Given the description of an element on the screen output the (x, y) to click on. 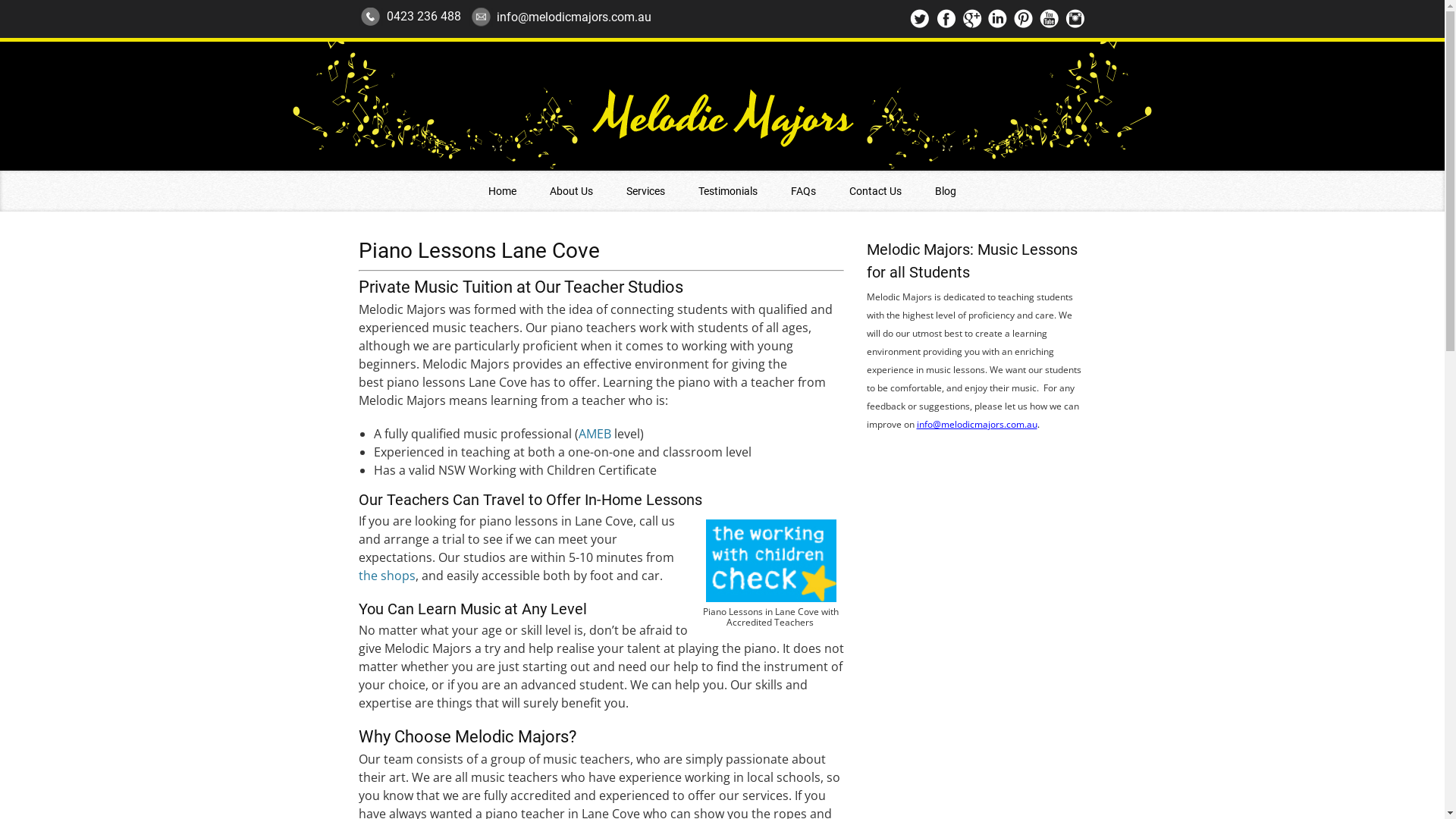
Contact Us Element type: text (875, 190)
AMEB Element type: text (593, 433)
Home Element type: text (502, 190)
the shops Element type: text (385, 575)
Services Element type: text (645, 190)
Blog Element type: text (945, 190)
FAQs Element type: text (803, 190)
About Us Element type: text (570, 190)
Melodic Majors Element type: text (721, 105)
Testimonials Element type: text (727, 190)
